Given the description of an element on the screen output the (x, y) to click on. 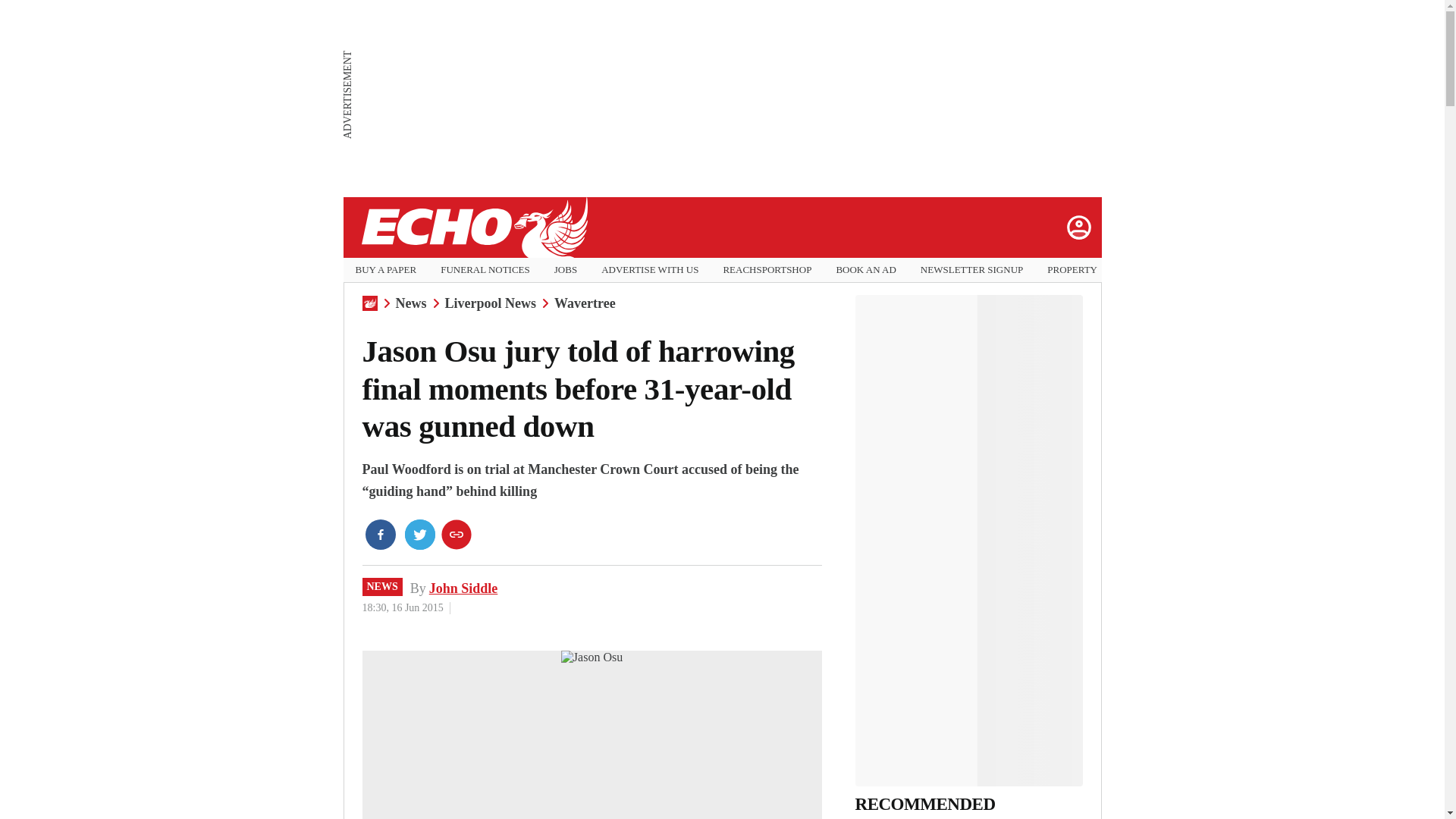
PROPERTY (1071, 270)
copy link (456, 534)
avatar (1077, 227)
JOBS (565, 270)
BUY A PAPER (385, 270)
News (411, 303)
ADVERTISE WITH US (649, 270)
Go to the Liverpool Echo homepage (473, 227)
REACHSPORTSHOP (766, 270)
NEWSLETTER SIGNUP (971, 270)
